Given the description of an element on the screen output the (x, y) to click on. 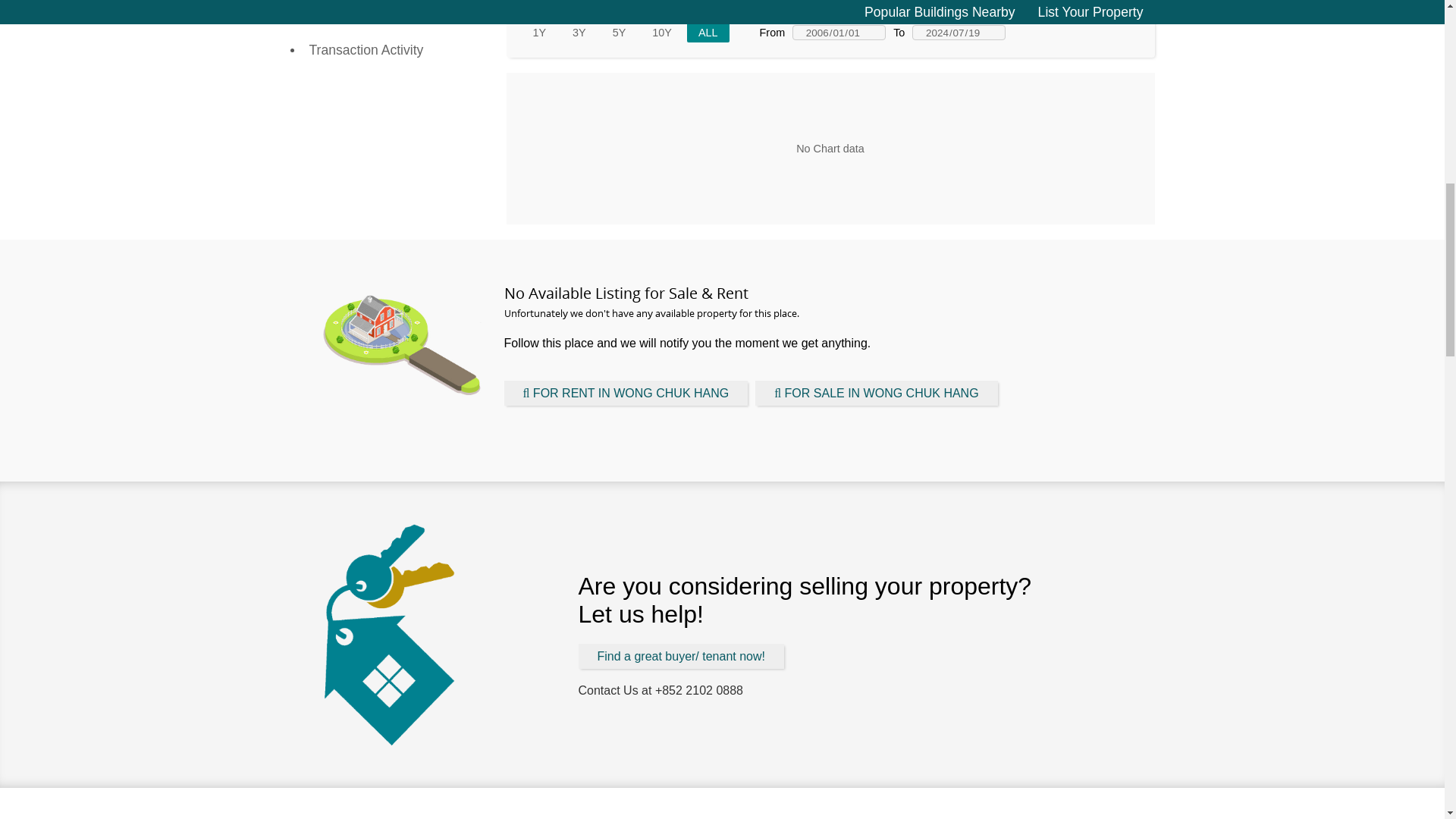
2024-07-19 (959, 32)
2006-01-01 (838, 32)
